Given the description of an element on the screen output the (x, y) to click on. 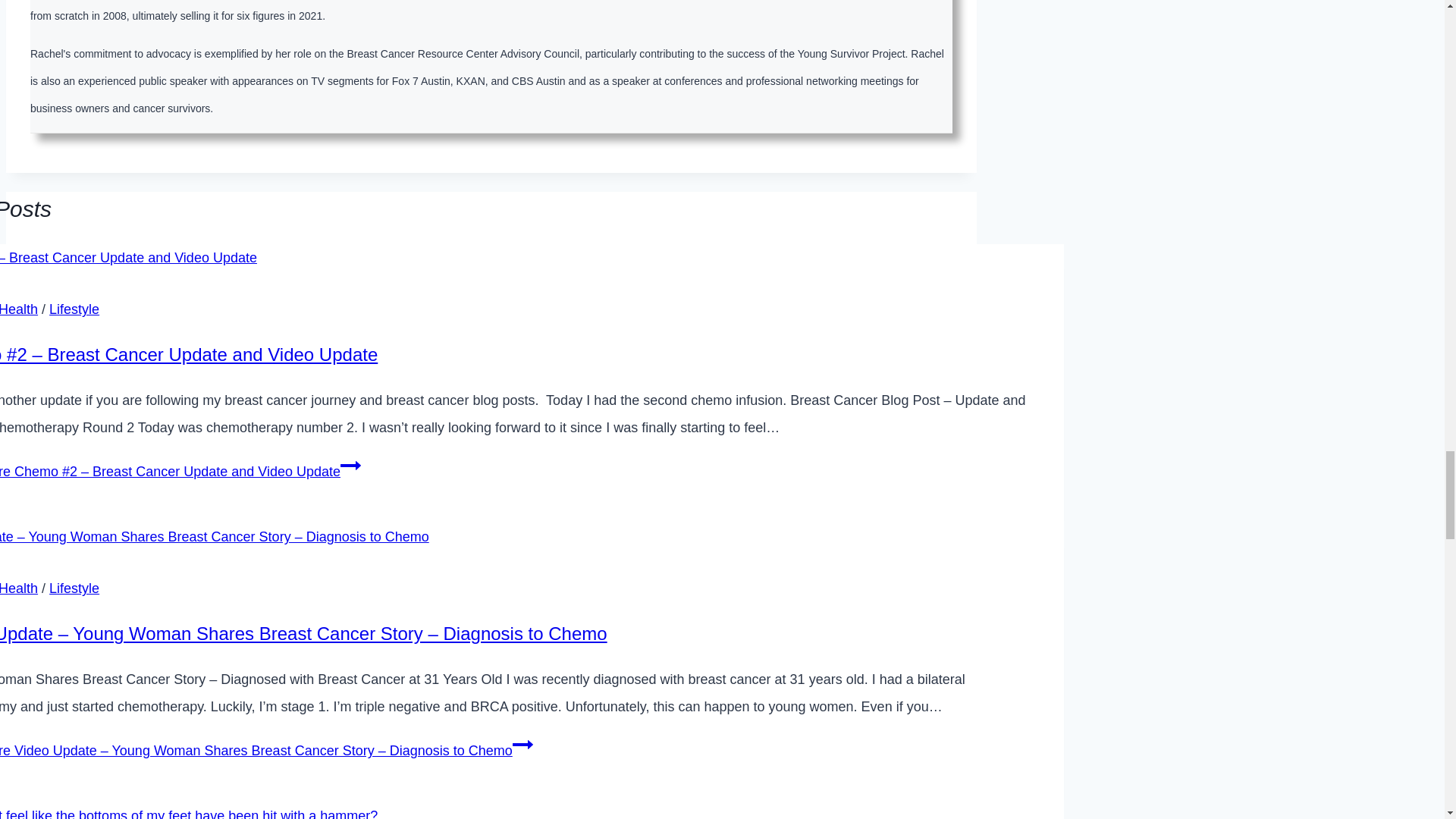
Lifestyle (74, 588)
Continue (522, 744)
Lifestyle (74, 309)
Health (18, 309)
Continue (350, 465)
Health (18, 588)
